Given the description of an element on the screen output the (x, y) to click on. 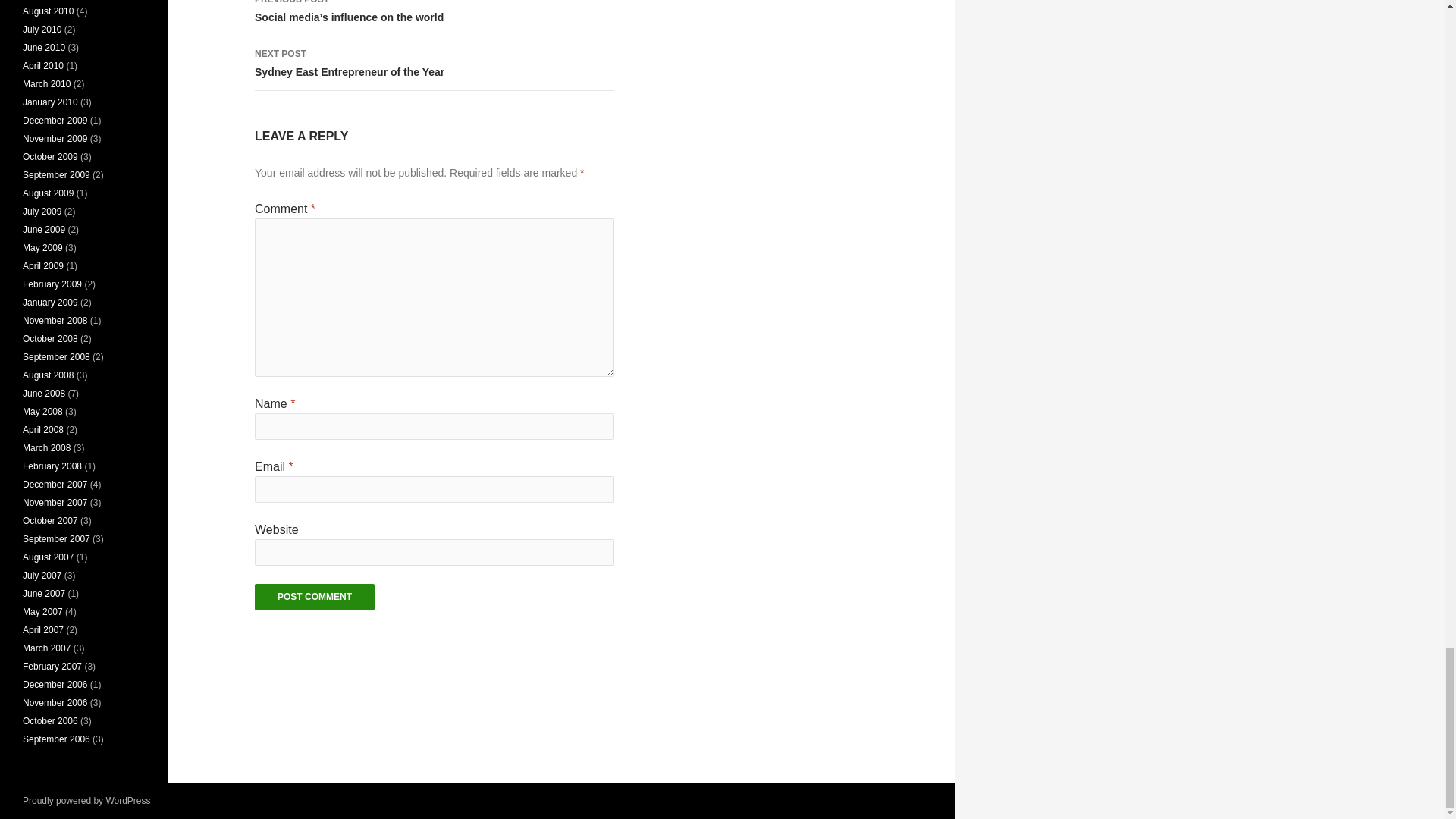
Post Comment (314, 596)
Post Comment (434, 63)
